Given the description of an element on the screen output the (x, y) to click on. 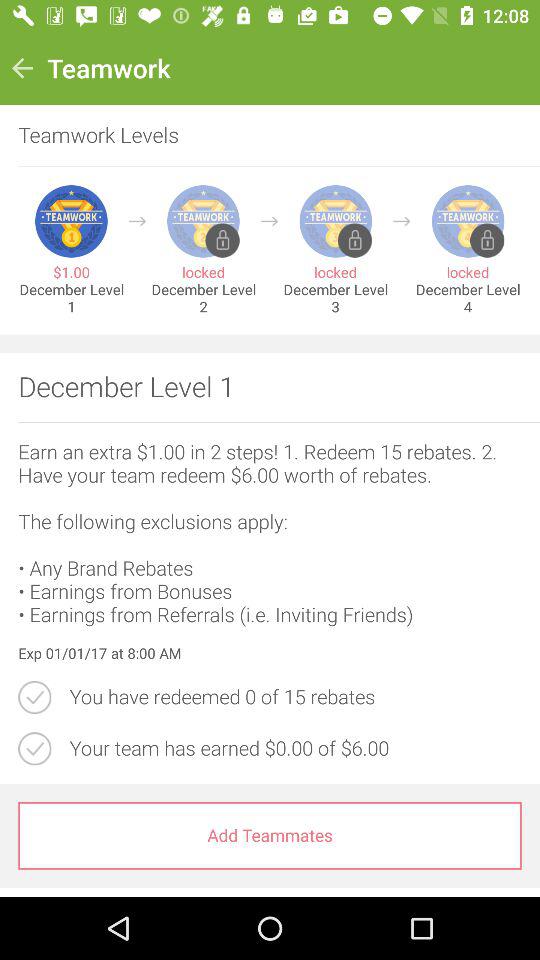
choose the icon next to the teamwork icon (22, 67)
